Given the description of an element on the screen output the (x, y) to click on. 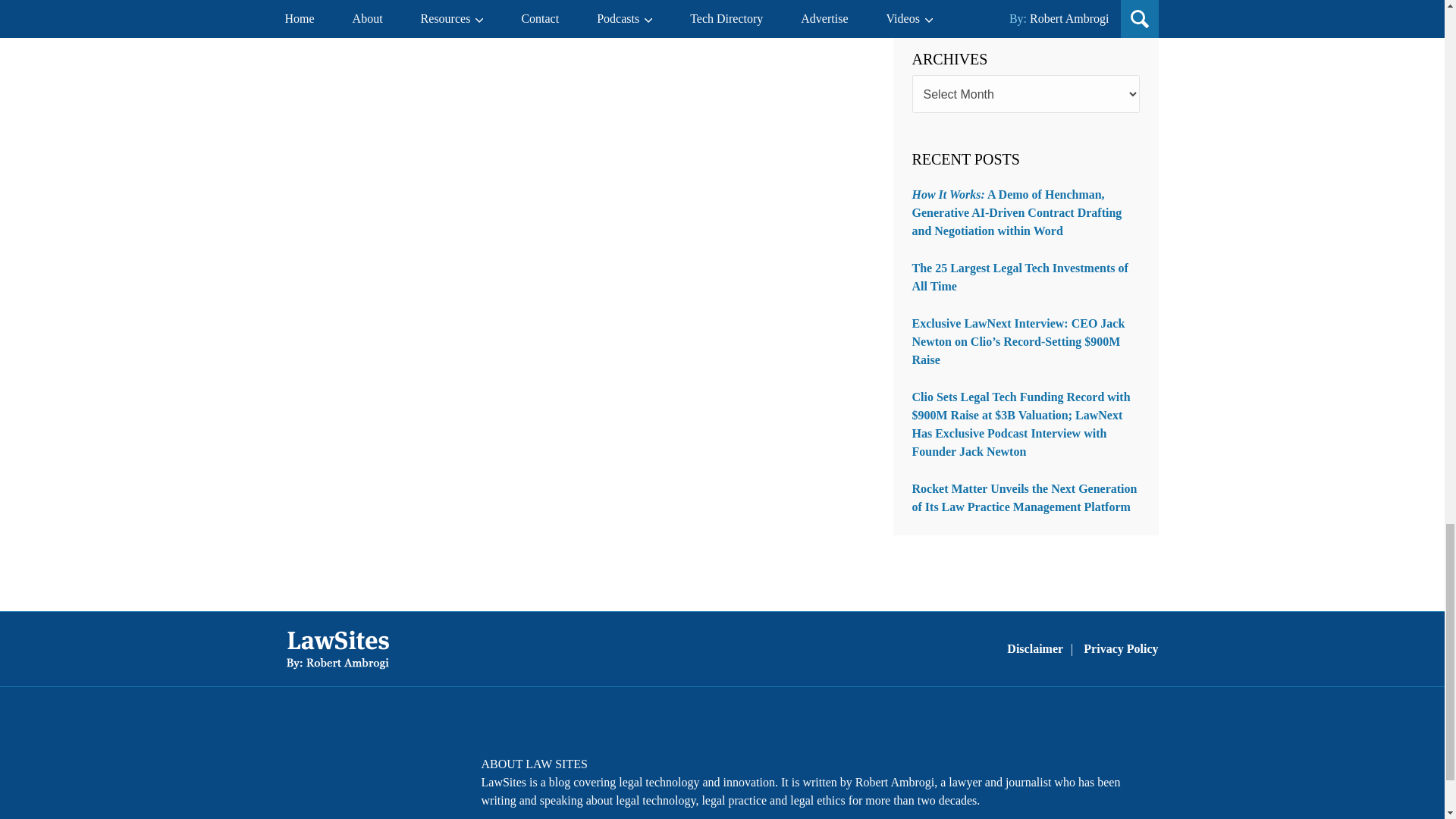
Feed (424, 773)
Facebook (304, 773)
Twitter (344, 773)
LinkedIn (384, 773)
